Given the description of an element on the screen output the (x, y) to click on. 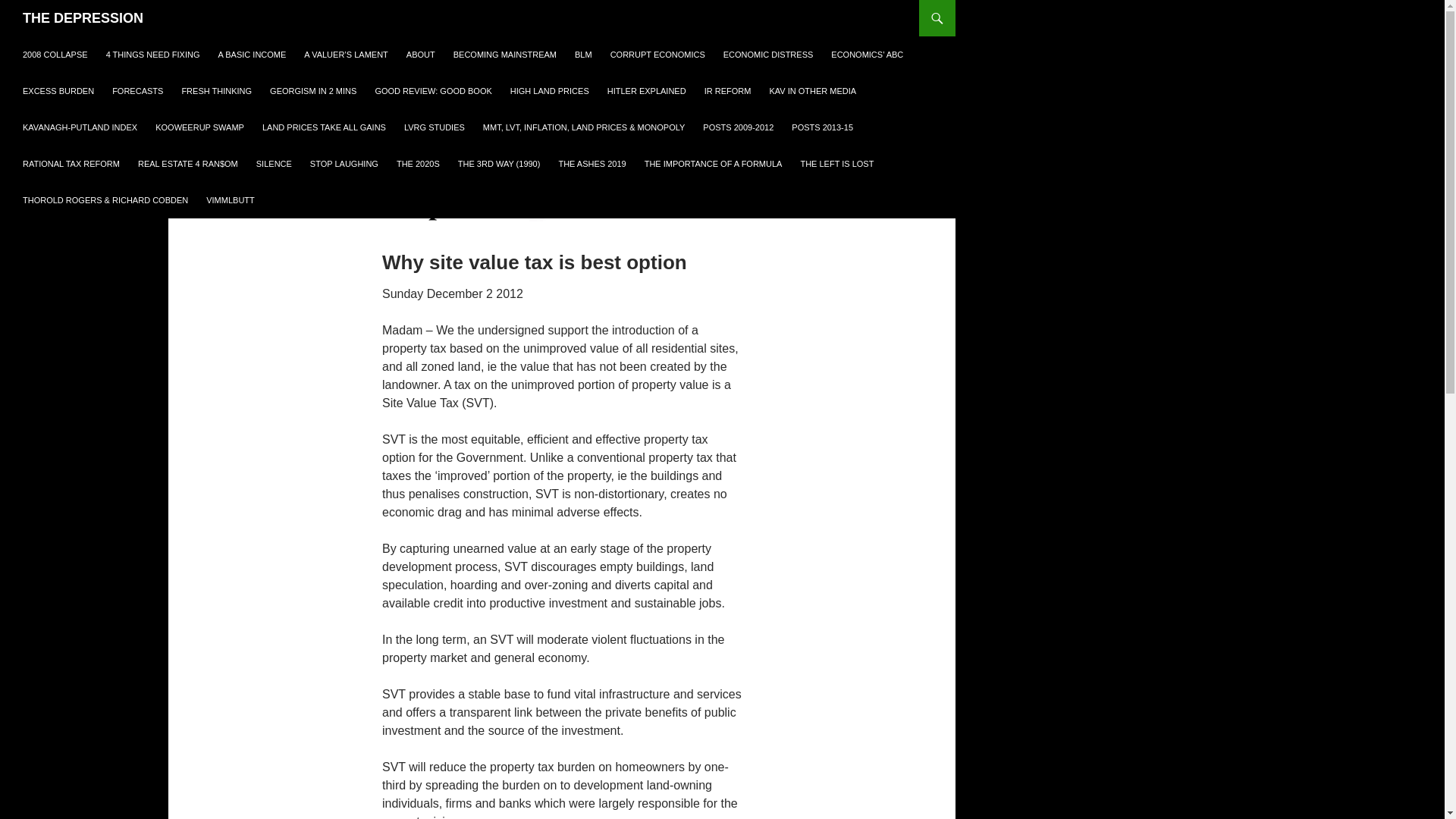
FRESH THINKING (215, 90)
IR REFORM (727, 90)
ABOUT (420, 54)
BECOMING MAINSTREAM (505, 54)
2008 COLLAPSE (55, 54)
4 THINGS NEED FIXING (153, 54)
KOOWEERUP SWAMP (200, 126)
STOP LAUGHING (344, 163)
logo-independentdublin (470, 206)
THE DEPRESSION (82, 18)
THE ASHES 2019 (591, 163)
ECONOMIC DISTRESS (768, 54)
THE 2020S (417, 163)
GOOD REVIEW: GOOD BOOK (432, 90)
KAVANAGH-PUTLAND INDEX (80, 126)
